Given the description of an element on the screen output the (x, y) to click on. 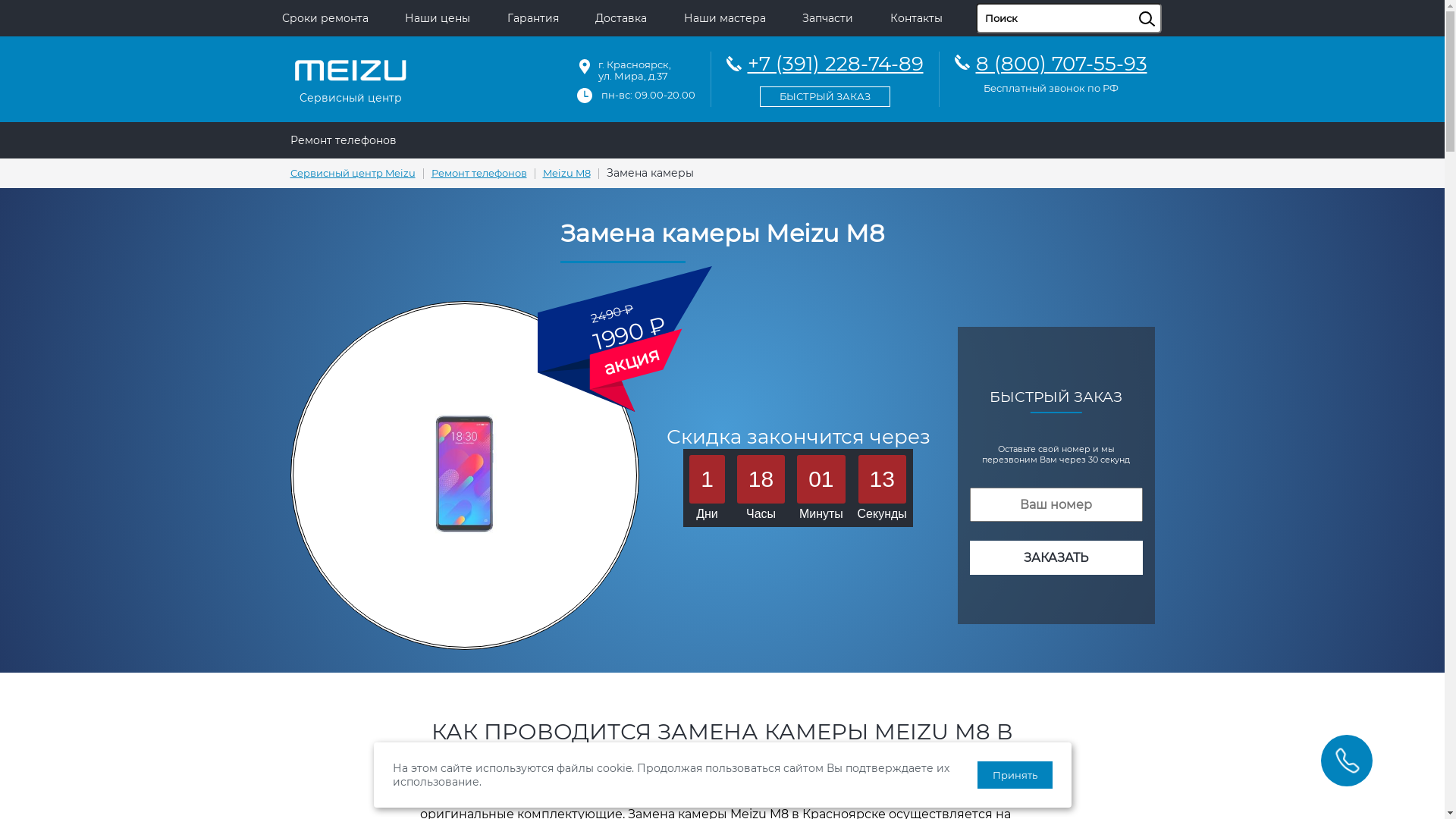
+7 (391) 228-74-89 Element type: text (824, 77)
Meizu M8 Element type: text (566, 173)
8 (800) 707-55-93 Element type: text (1060, 63)
sisea.search Element type: text (1165, 3)
